Given the description of an element on the screen output the (x, y) to click on. 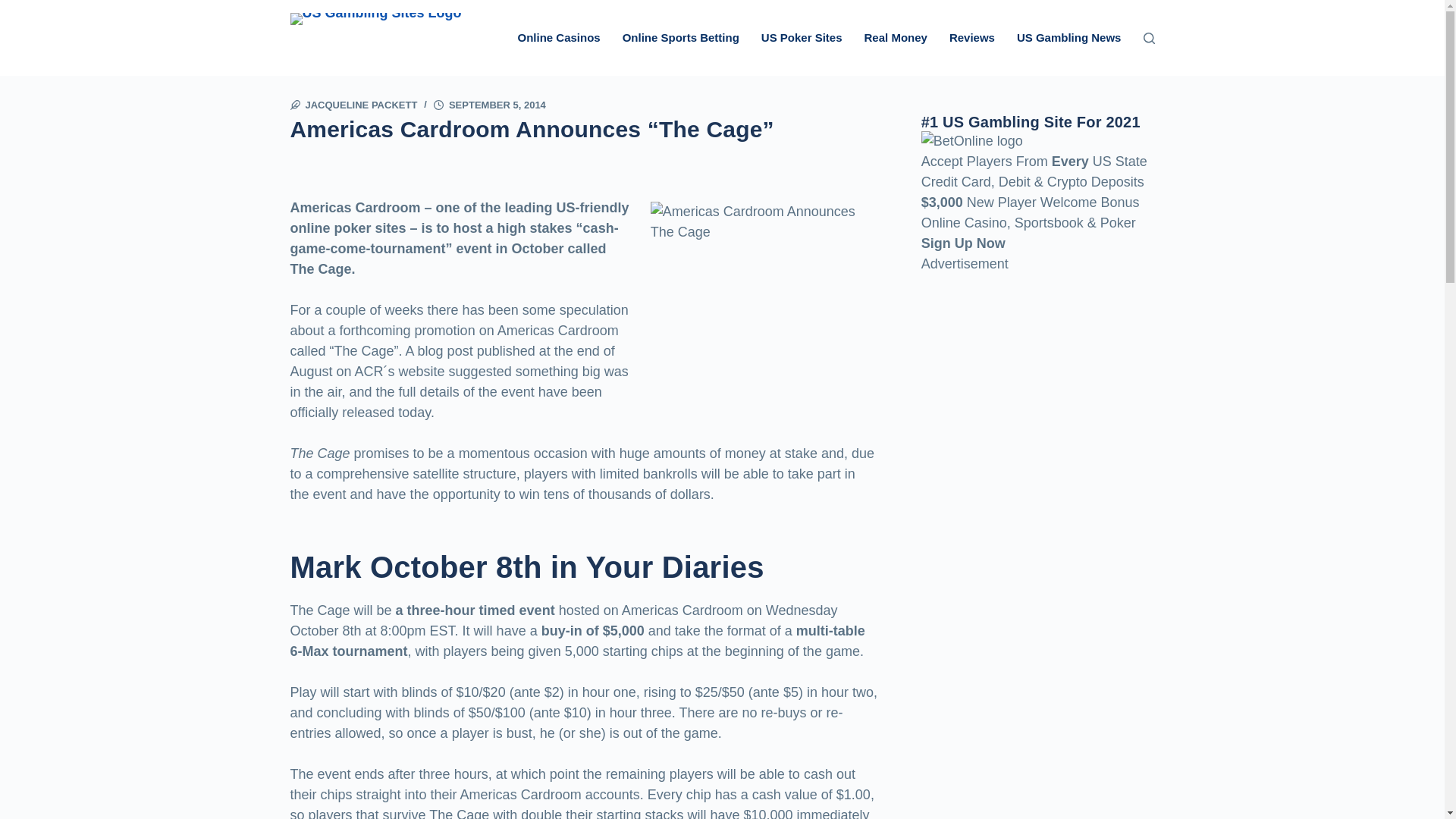
US Poker Sites (801, 38)
Online Casinos (559, 38)
Posts by Jacqueline Packett (360, 104)
Real Money (895, 38)
US Gambling News (1069, 38)
JACQUELINE PACKETT (360, 104)
Online Sports Betting (680, 38)
Sign Up Now (963, 242)
Skip to content (15, 7)
